Given the description of an element on the screen output the (x, y) to click on. 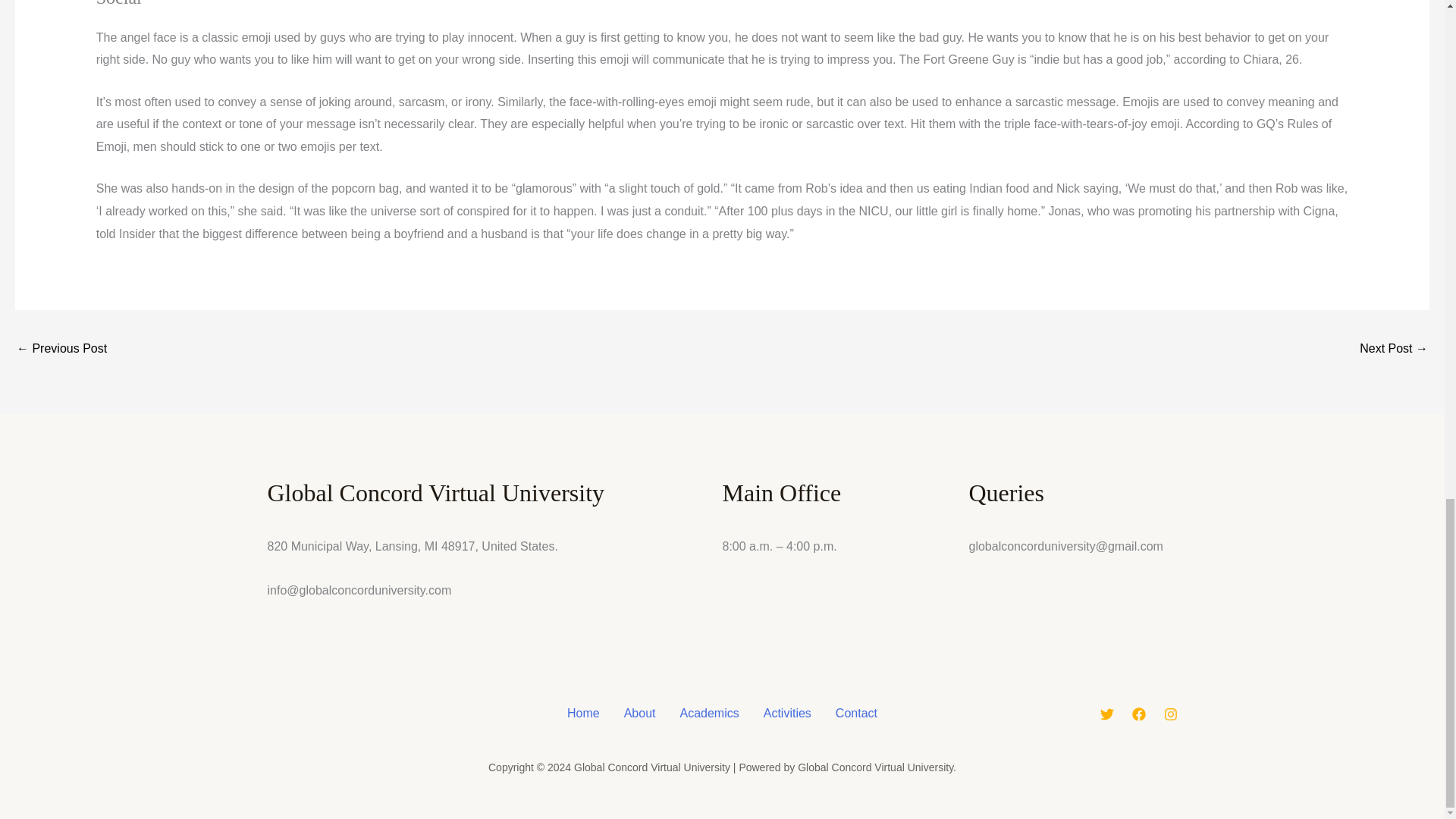
About (639, 712)
Activities (787, 712)
Leo And Pisces Love Compatibility (61, 349)
Home (582, 712)
5 Signs Youre Dating The Wrong Person (1393, 349)
Academics (708, 712)
Contact (856, 712)
